Given the description of an element on the screen output the (x, y) to click on. 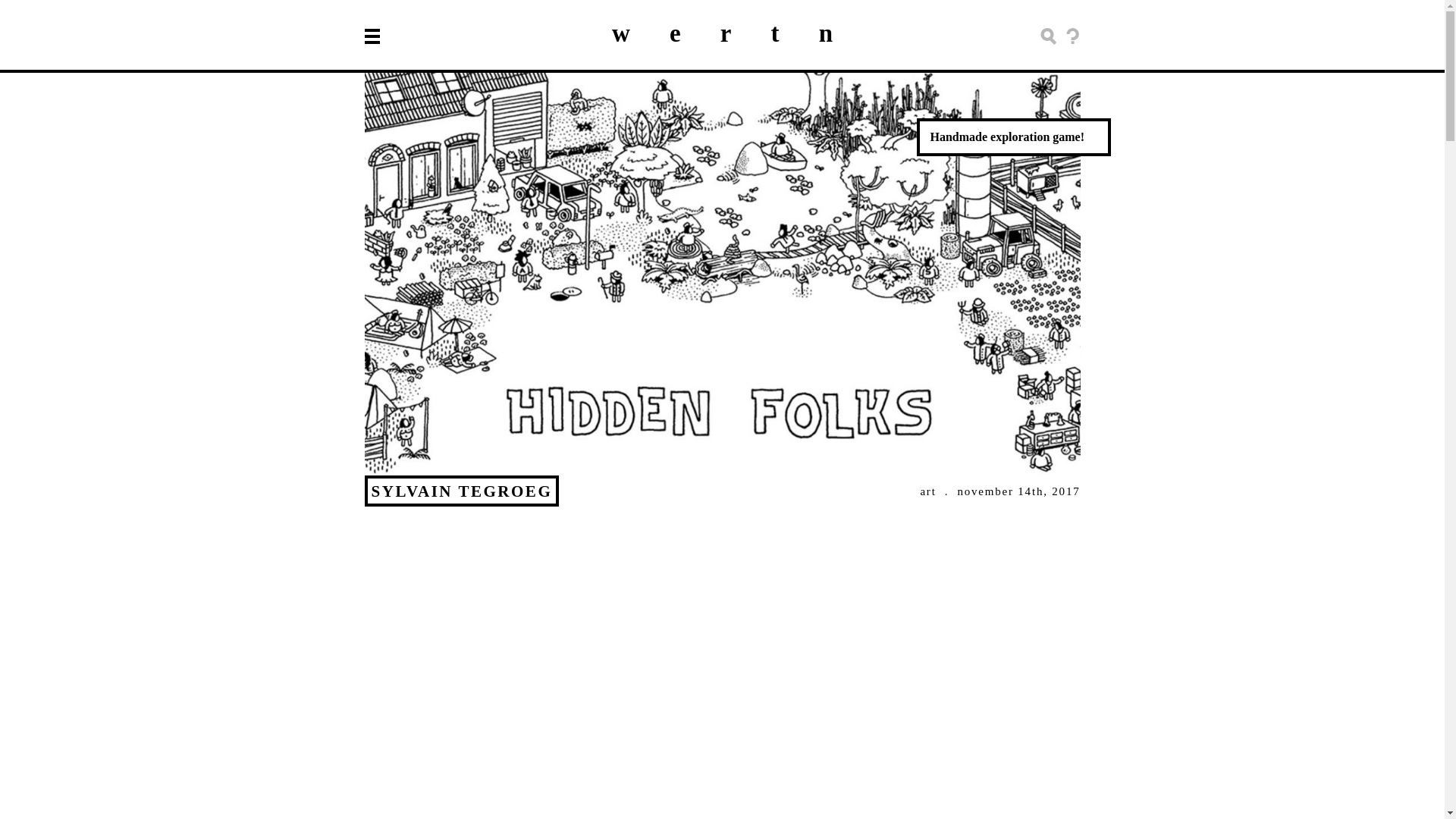
art (928, 491)
wertn (741, 32)
